Given the description of an element on the screen output the (x, y) to click on. 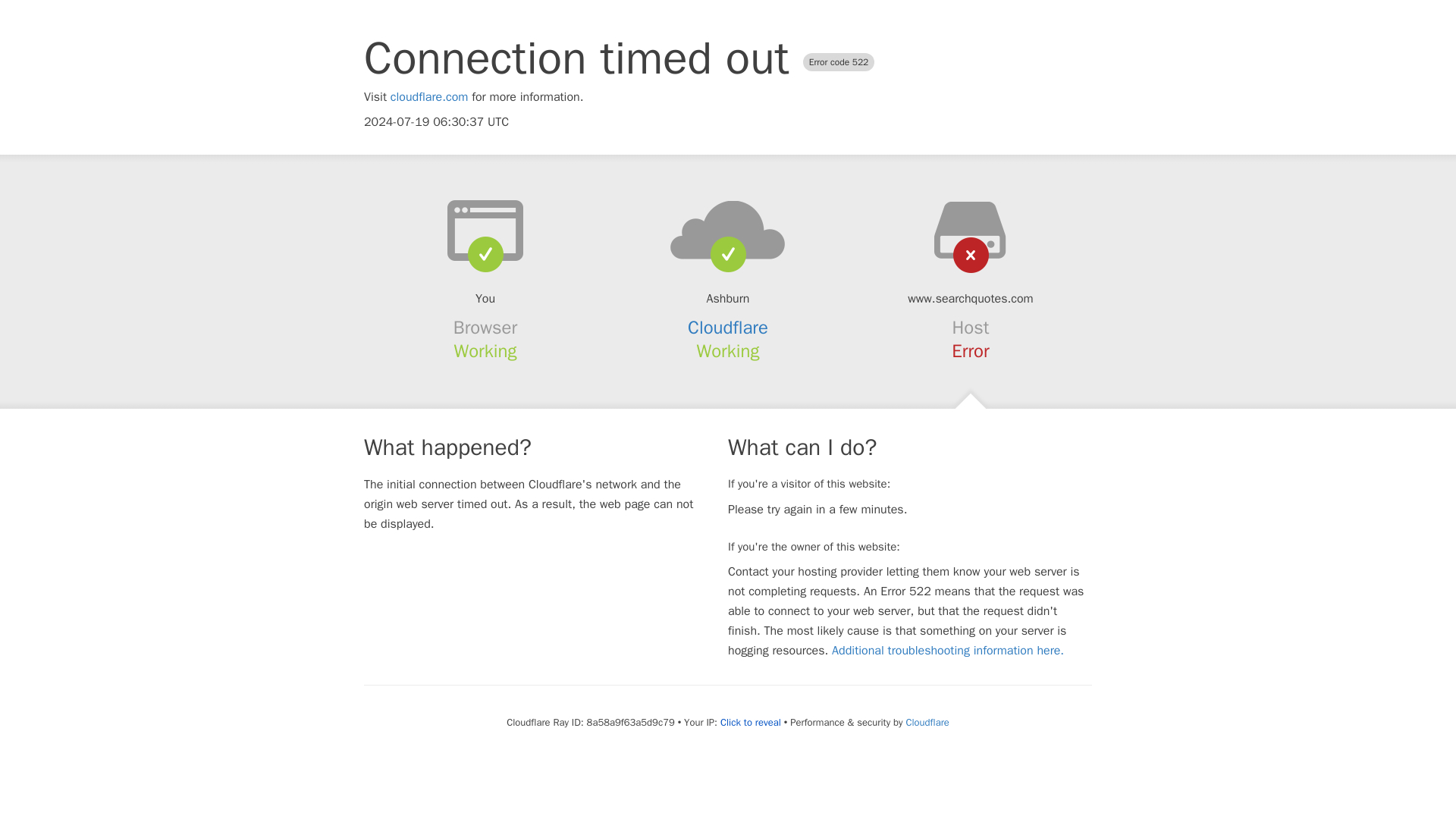
Click to reveal (750, 722)
cloudflare.com (429, 96)
Cloudflare (927, 721)
Cloudflare (727, 327)
Additional troubleshooting information here. (947, 650)
